Given the description of an element on the screen output the (x, y) to click on. 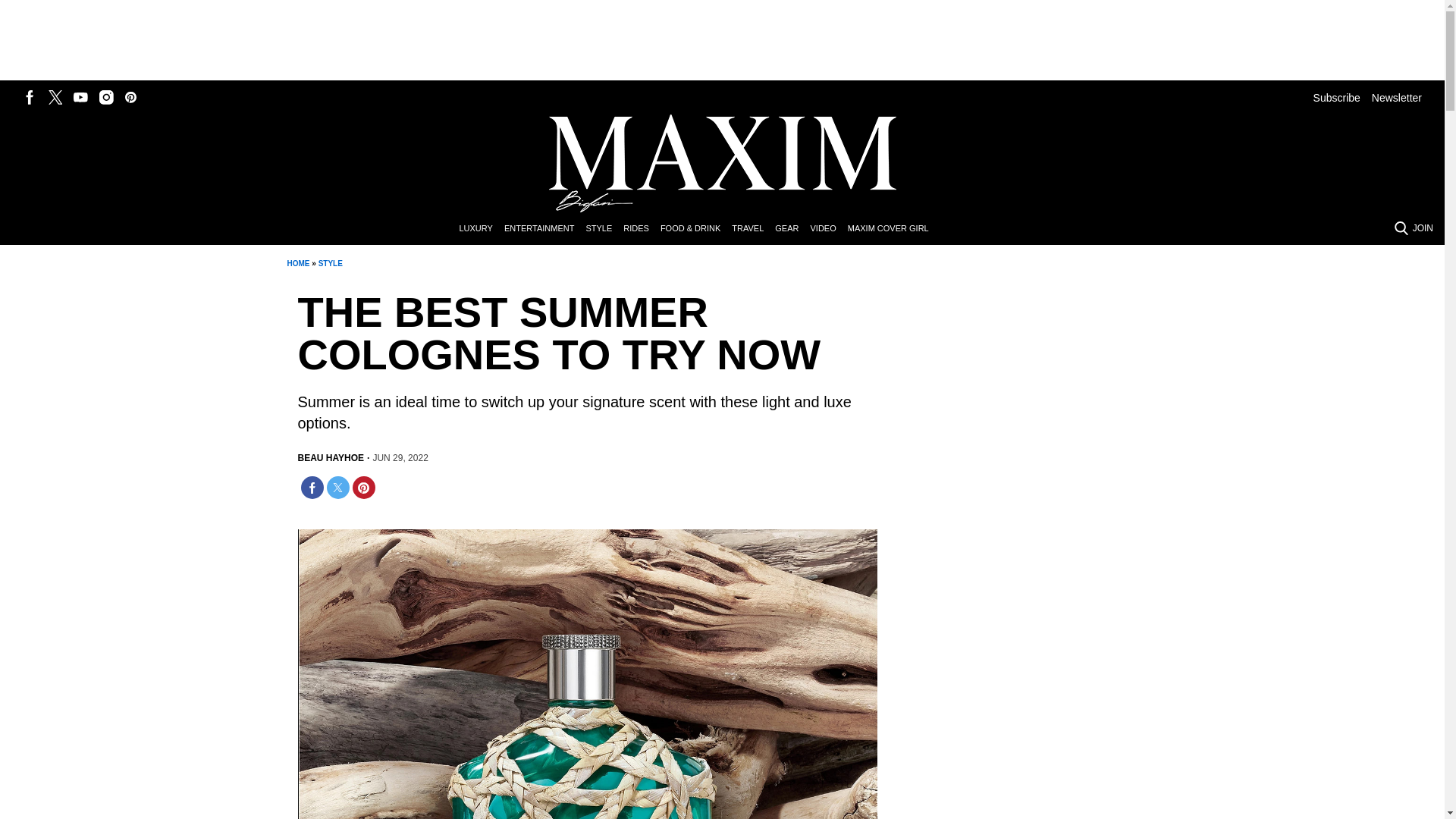
Posts by Beau Hayhoe (330, 458)
LUXURY (480, 228)
Follow us on Twitter (55, 97)
TRAVEL (753, 228)
RIDES (642, 228)
Follow us on Instagram (106, 97)
MAXIM COVER GIRL (893, 228)
STYLE (604, 228)
GEAR (791, 228)
Share on Twitter (337, 486)
